Given the description of an element on the screen output the (x, y) to click on. 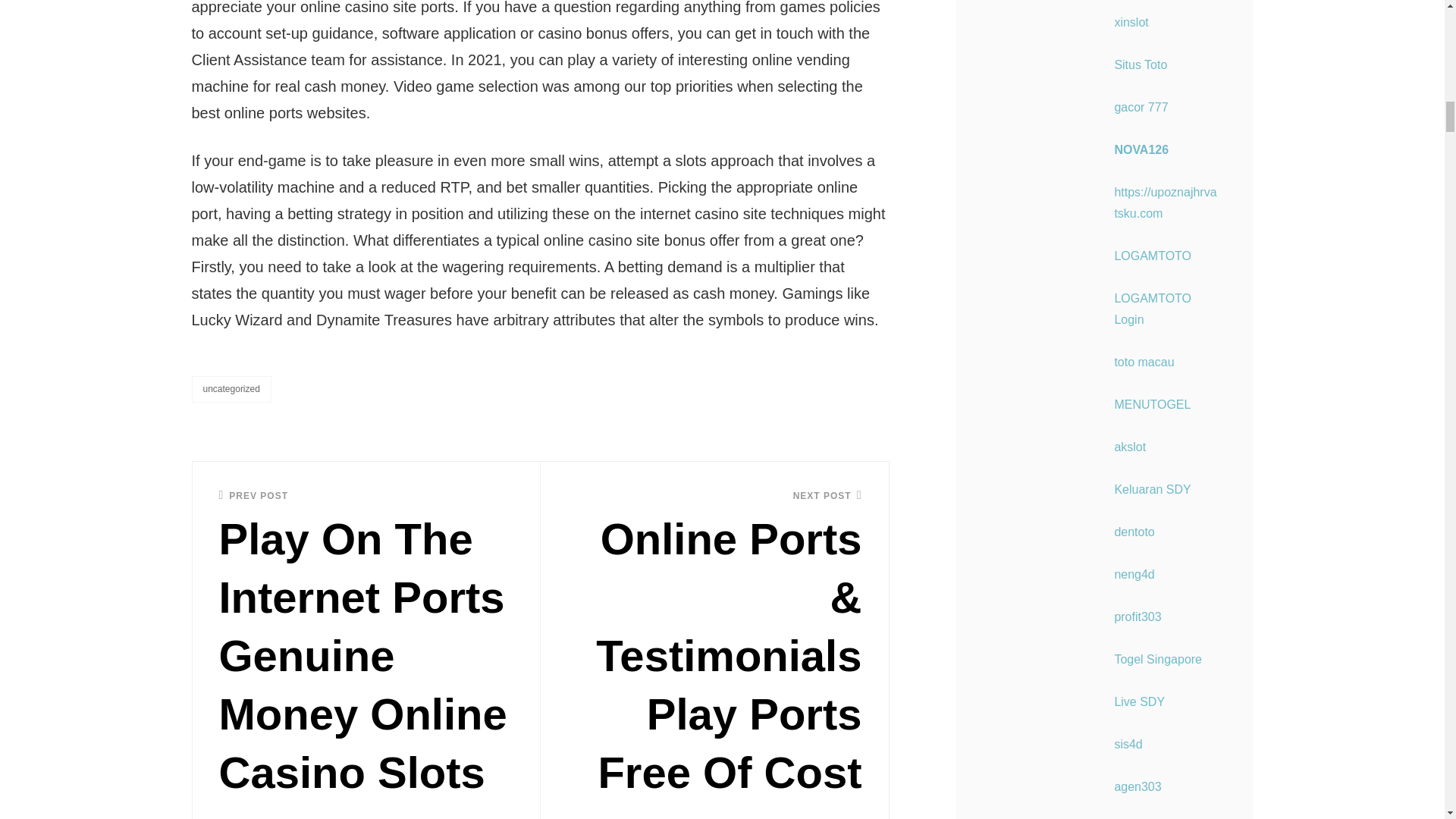
uncategorized (230, 388)
